Given the description of an element on the screen output the (x, y) to click on. 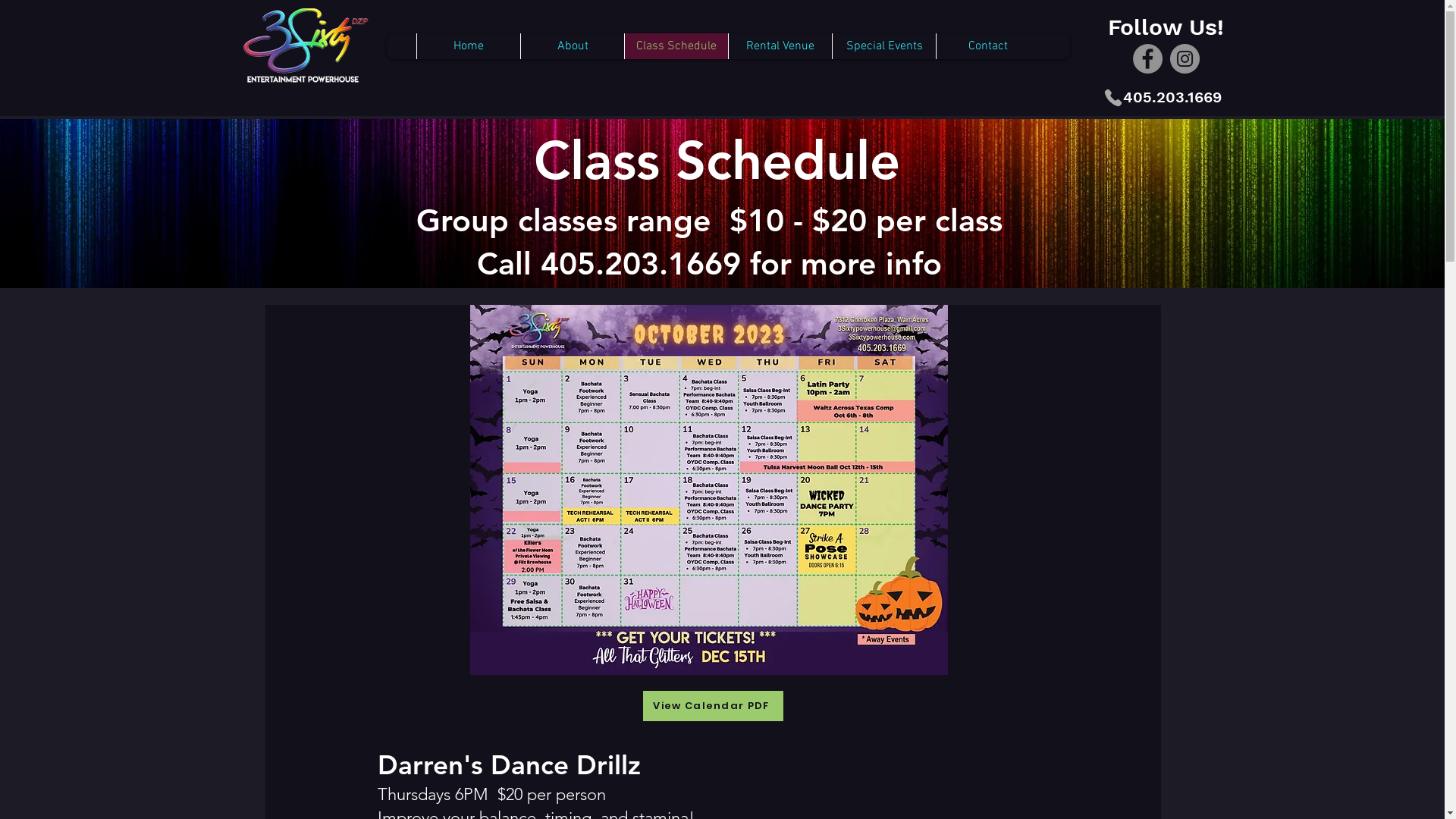
Contact Element type: text (987, 46)
About Element type: text (572, 46)
Home Element type: text (468, 46)
Rental Venue Element type: text (779, 46)
Special Events Element type: text (883, 46)
View Calendar PDF Element type: text (713, 705)
Class Schedule Element type: text (676, 46)
